Given the description of an element on the screen output the (x, y) to click on. 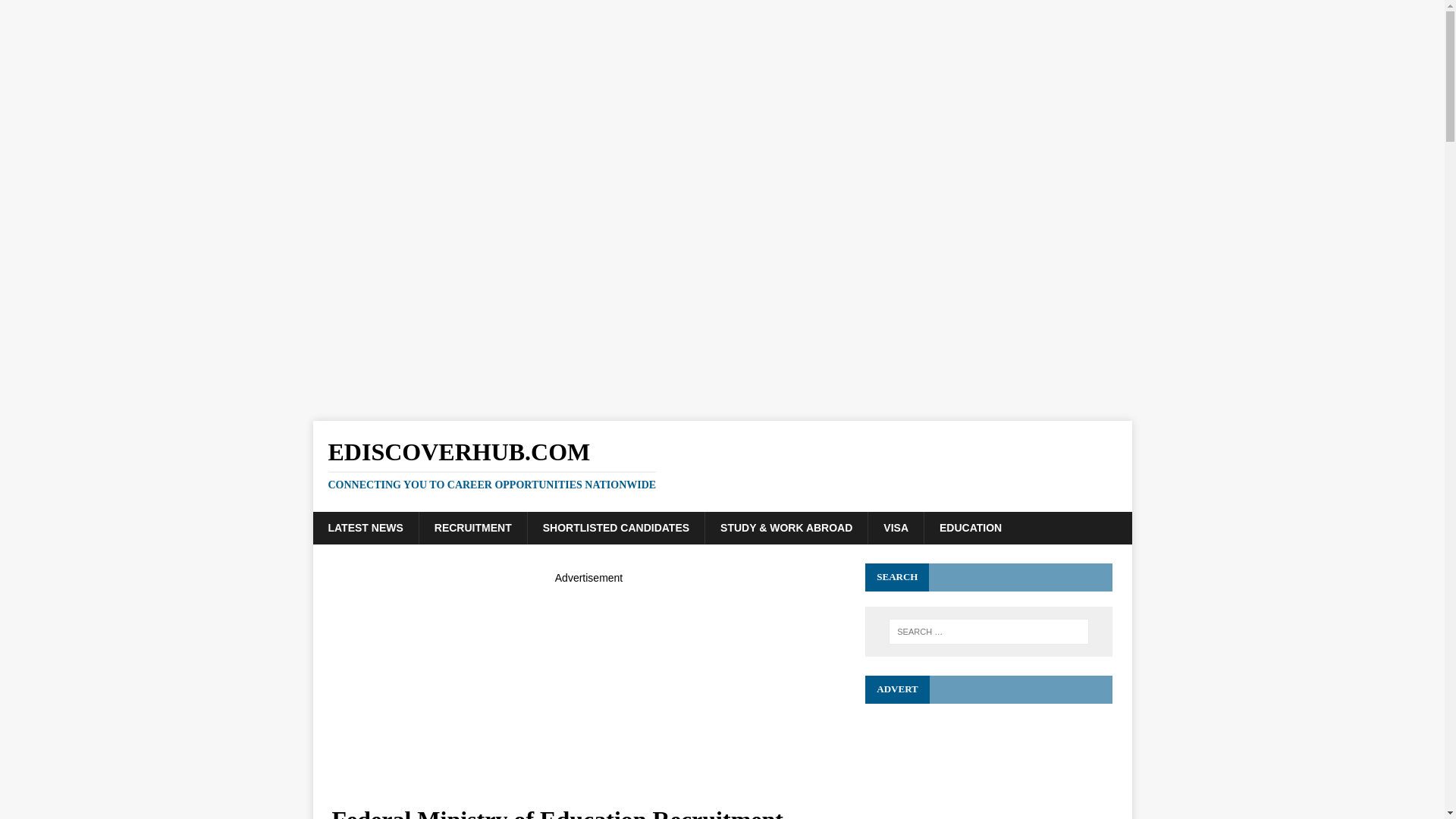
RECRUITMENT (473, 527)
Advertisement (588, 692)
Ediscoverhub.com (721, 464)
LATEST NEWS (365, 527)
EDUCATION (969, 527)
Search (56, 11)
SHORTLISTED CANDIDATES (615, 527)
VISA (895, 527)
